Given the description of an element on the screen output the (x, y) to click on. 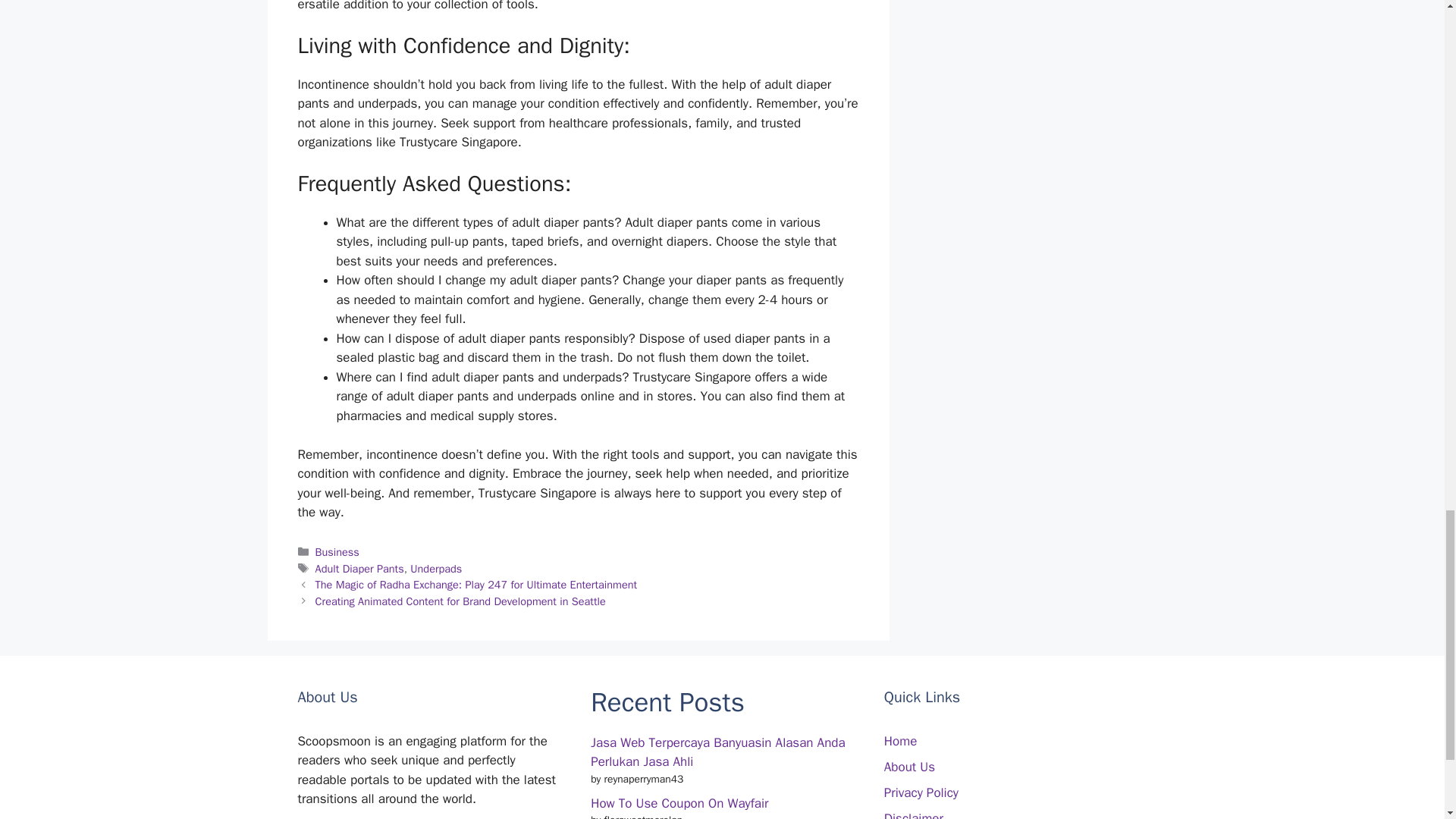
Jasa Web Terpercaya Banyuasin Alasan Anda Perlukan Jasa Ahli (717, 752)
Creating Animated Content for Brand Development in Seattle (460, 601)
Business (337, 551)
How To Use Coupon On Wayfair (679, 803)
Adult Diaper Pants (359, 568)
Underpads (435, 568)
